Given the description of an element on the screen output the (x, y) to click on. 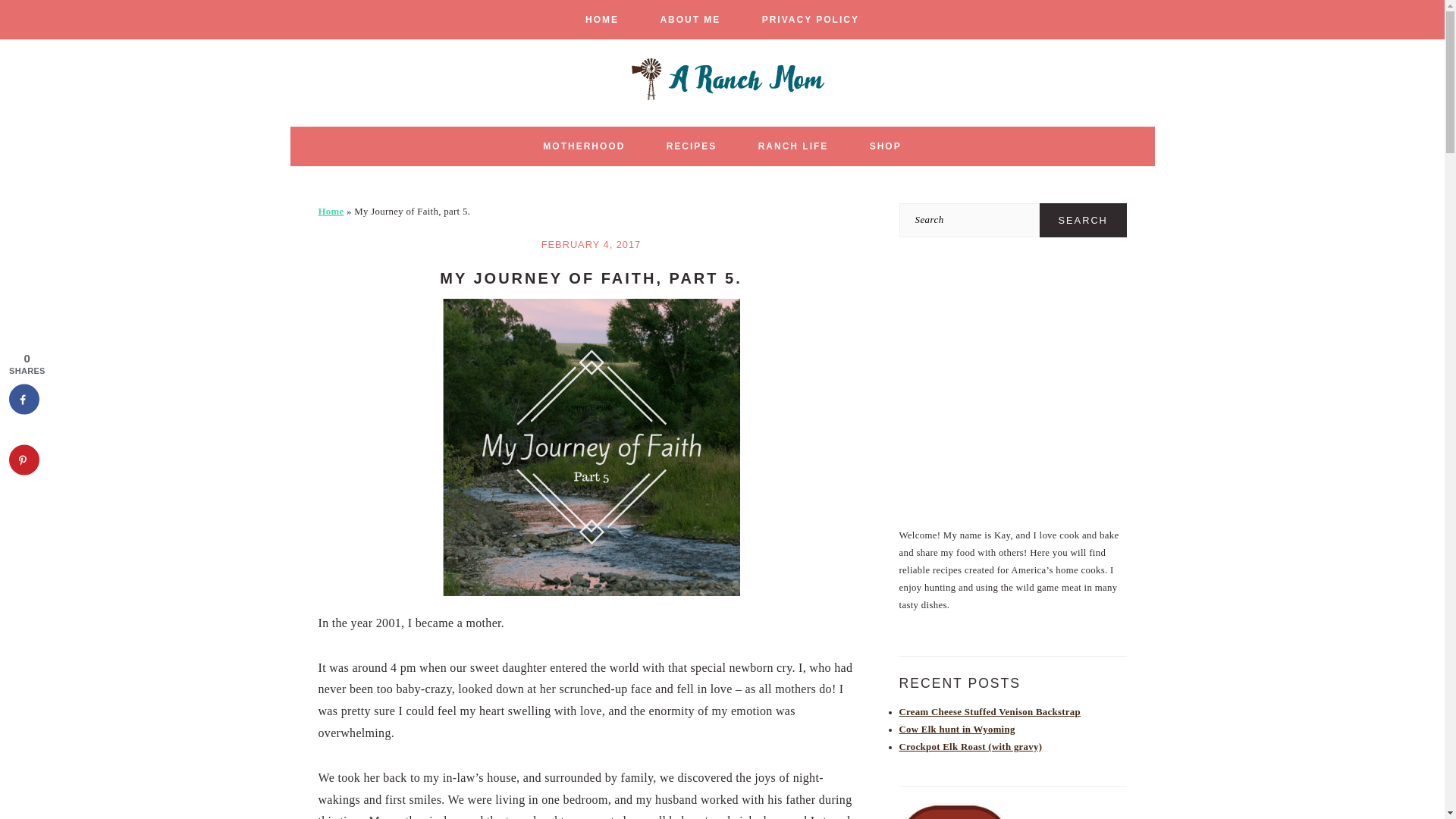
A Ranch Mom (722, 95)
Save to Pinterest (23, 459)
A Ranch Mom (722, 78)
MOTHERHOOD (583, 146)
SHOP (885, 146)
Share on X (23, 429)
Home (330, 211)
Share on Facebook (23, 399)
Search (1082, 220)
HOME (601, 19)
